Given the description of an element on the screen output the (x, y) to click on. 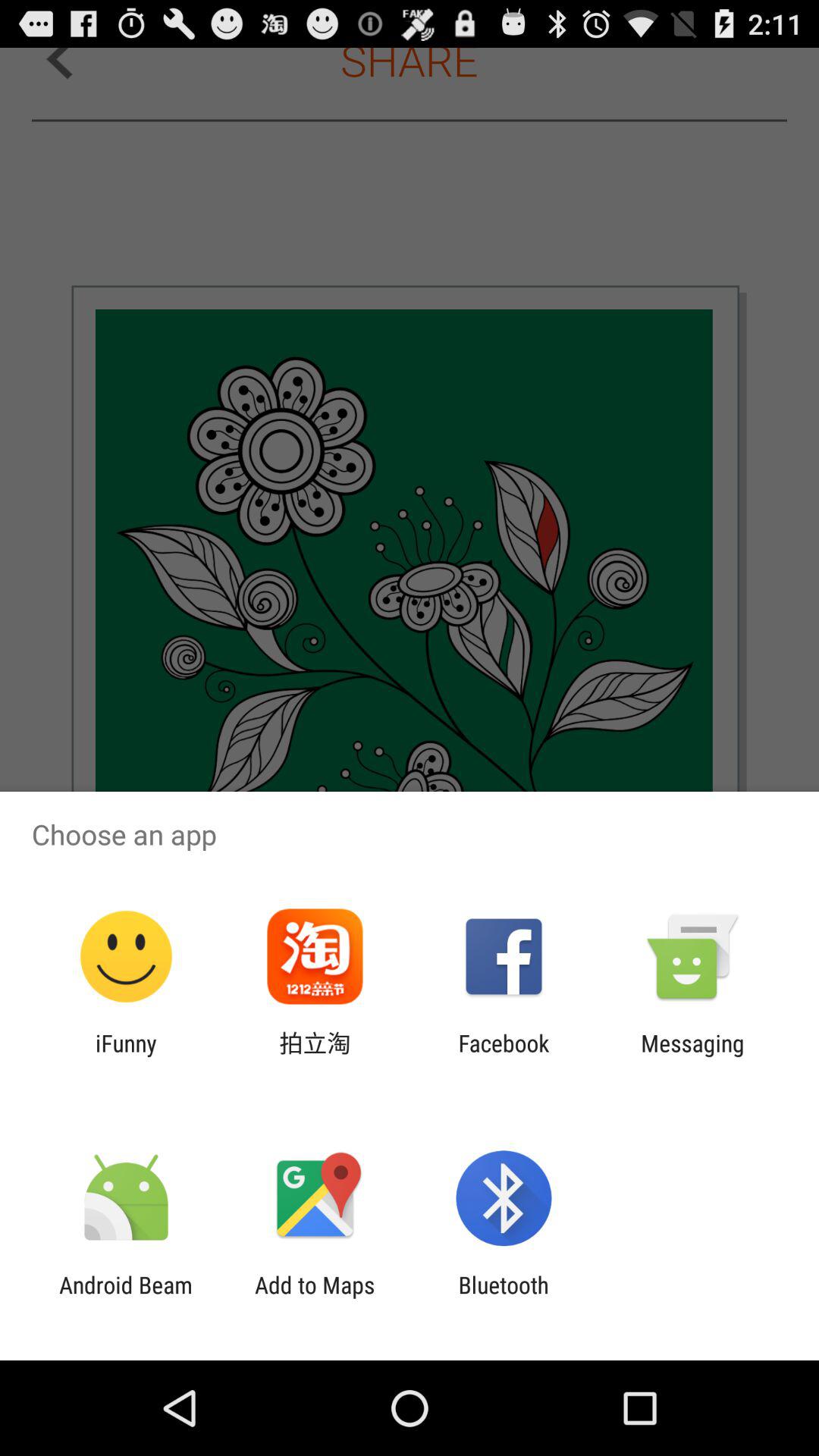
scroll until the bluetooth app (503, 1298)
